Given the description of an element on the screen output the (x, y) to click on. 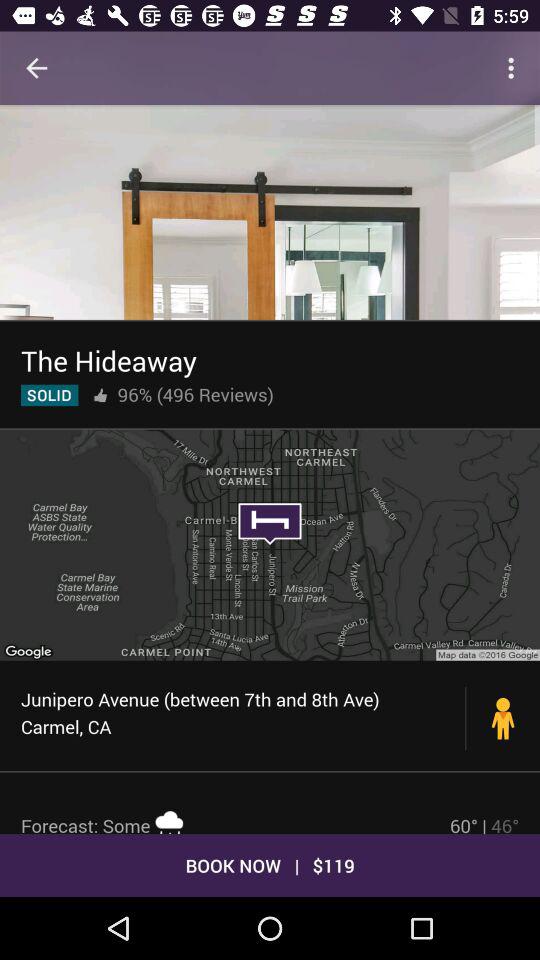
press the 96% (496 reviews) item (195, 394)
